Given the description of an element on the screen output the (x, y) to click on. 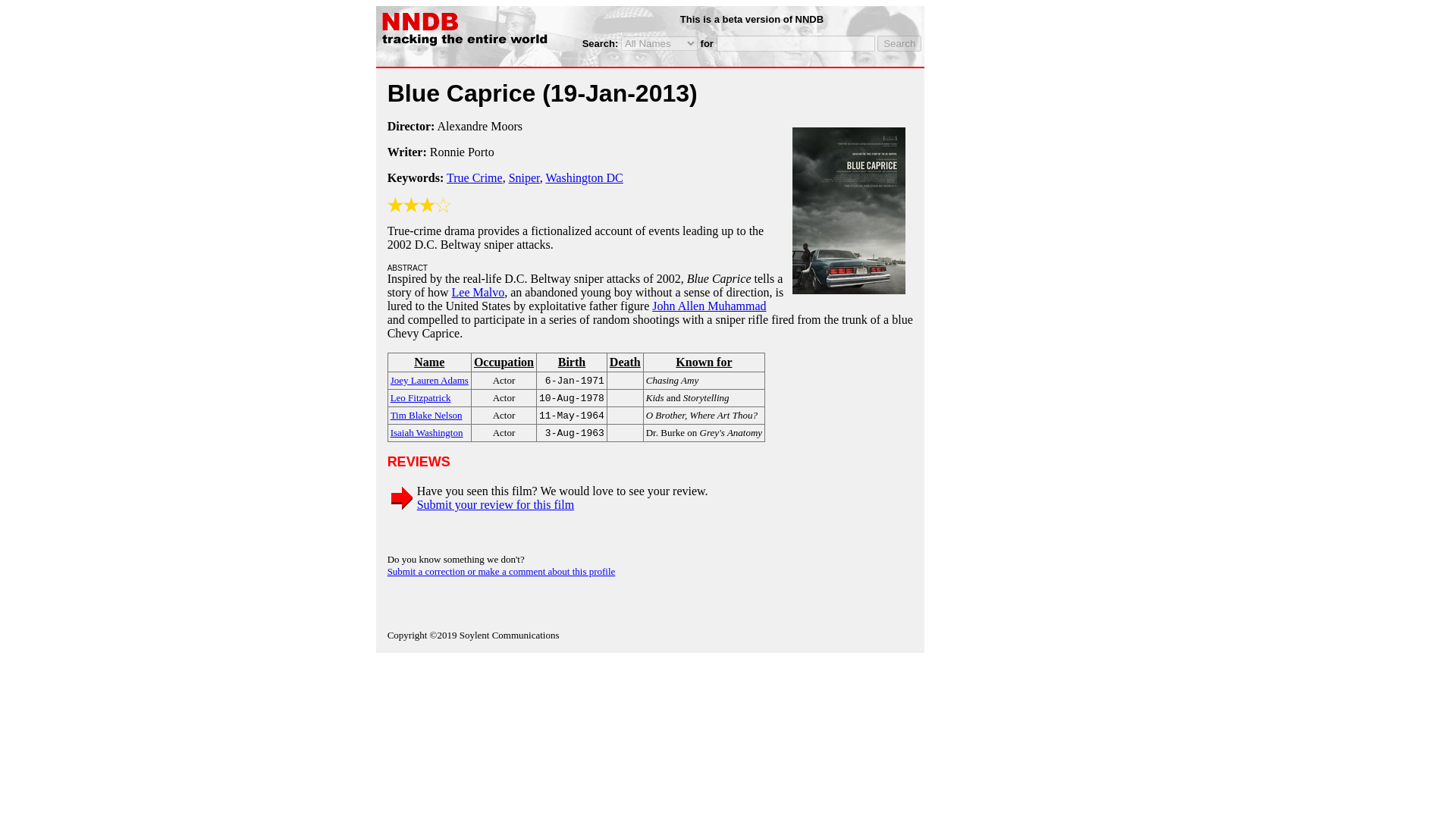
Known for (703, 362)
Tim Blake Nelson (426, 413)
Occupation (504, 362)
Sniper (524, 177)
Submit your review for this film (495, 504)
Leo Fitzpatrick (420, 396)
Search (899, 43)
Birth (571, 362)
Submit a correction or make a comment about this profile (501, 571)
Isaiah Washington (426, 431)
